Given the description of an element on the screen output the (x, y) to click on. 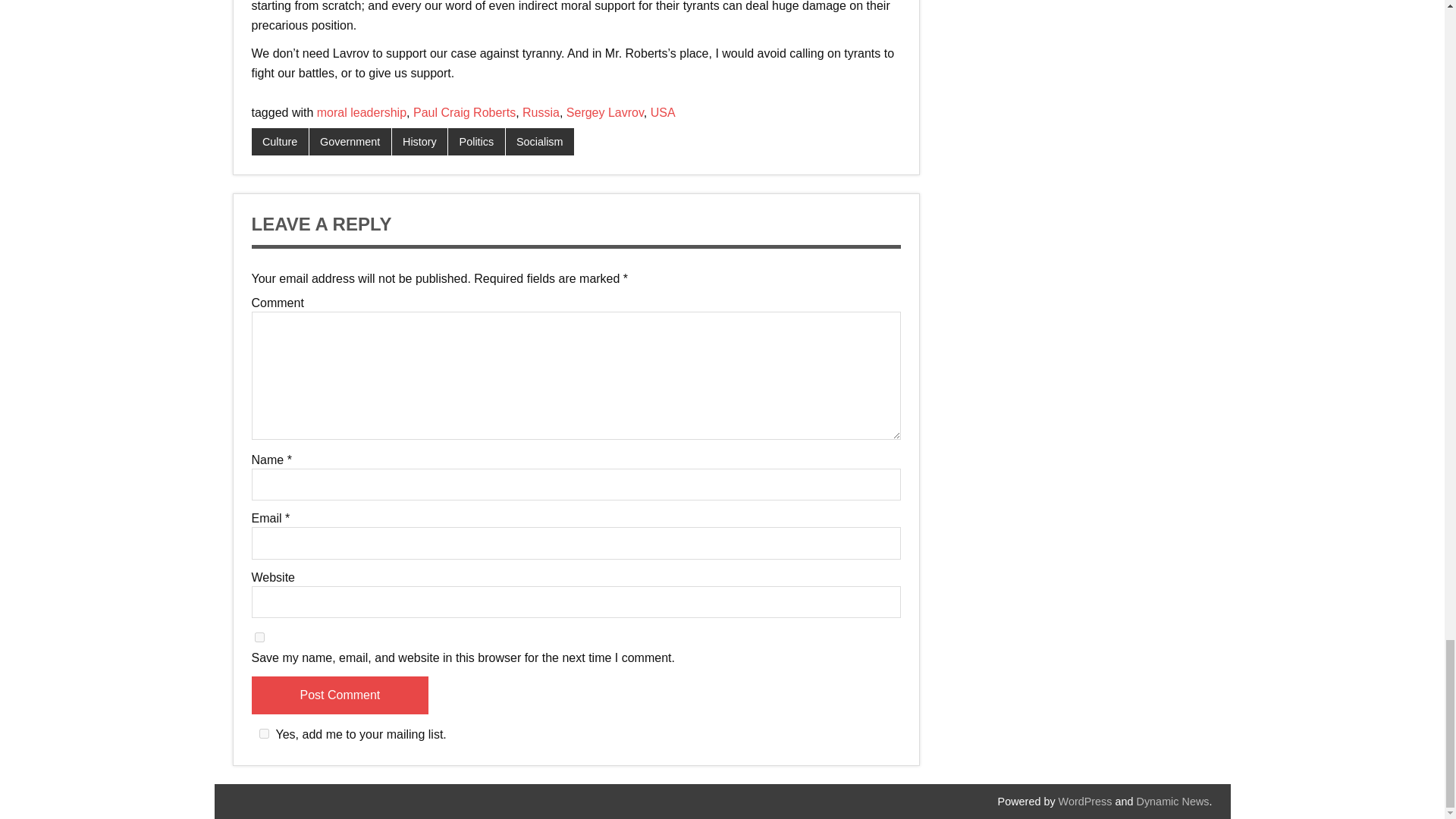
USA (662, 112)
Socialism (539, 141)
Post Comment (340, 695)
moral leadership (361, 112)
Dynamic News WordPress Theme (1173, 801)
1 (263, 733)
History (419, 141)
Culture (279, 141)
Politics (475, 141)
Russia (540, 112)
WordPress (1085, 801)
Post Comment (340, 695)
Sergey Lavrov (604, 112)
yes (259, 637)
Government (349, 141)
